Given the description of an element on the screen output the (x, y) to click on. 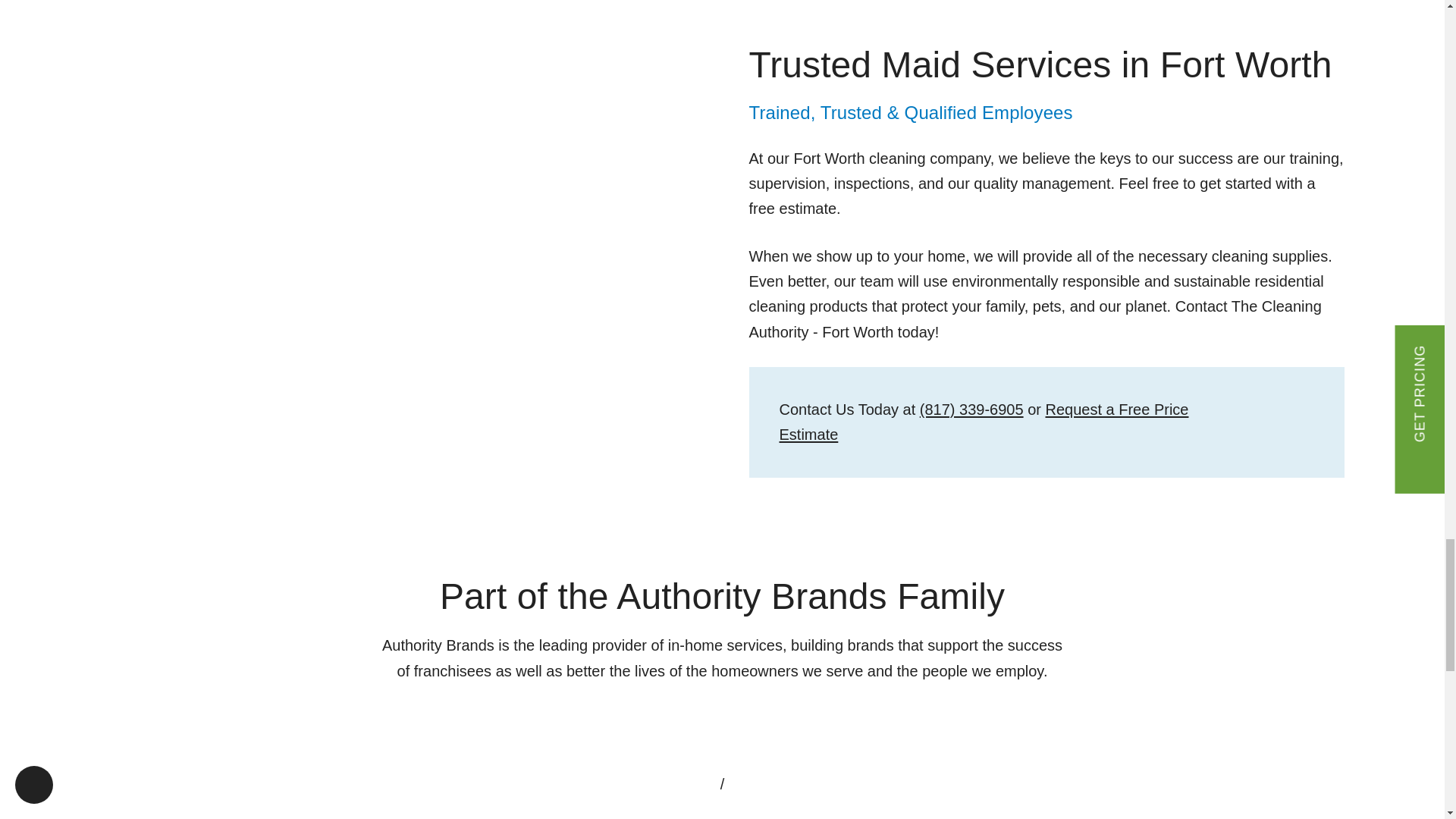
View previous item (701, 783)
